Given the description of an element on the screen output the (x, y) to click on. 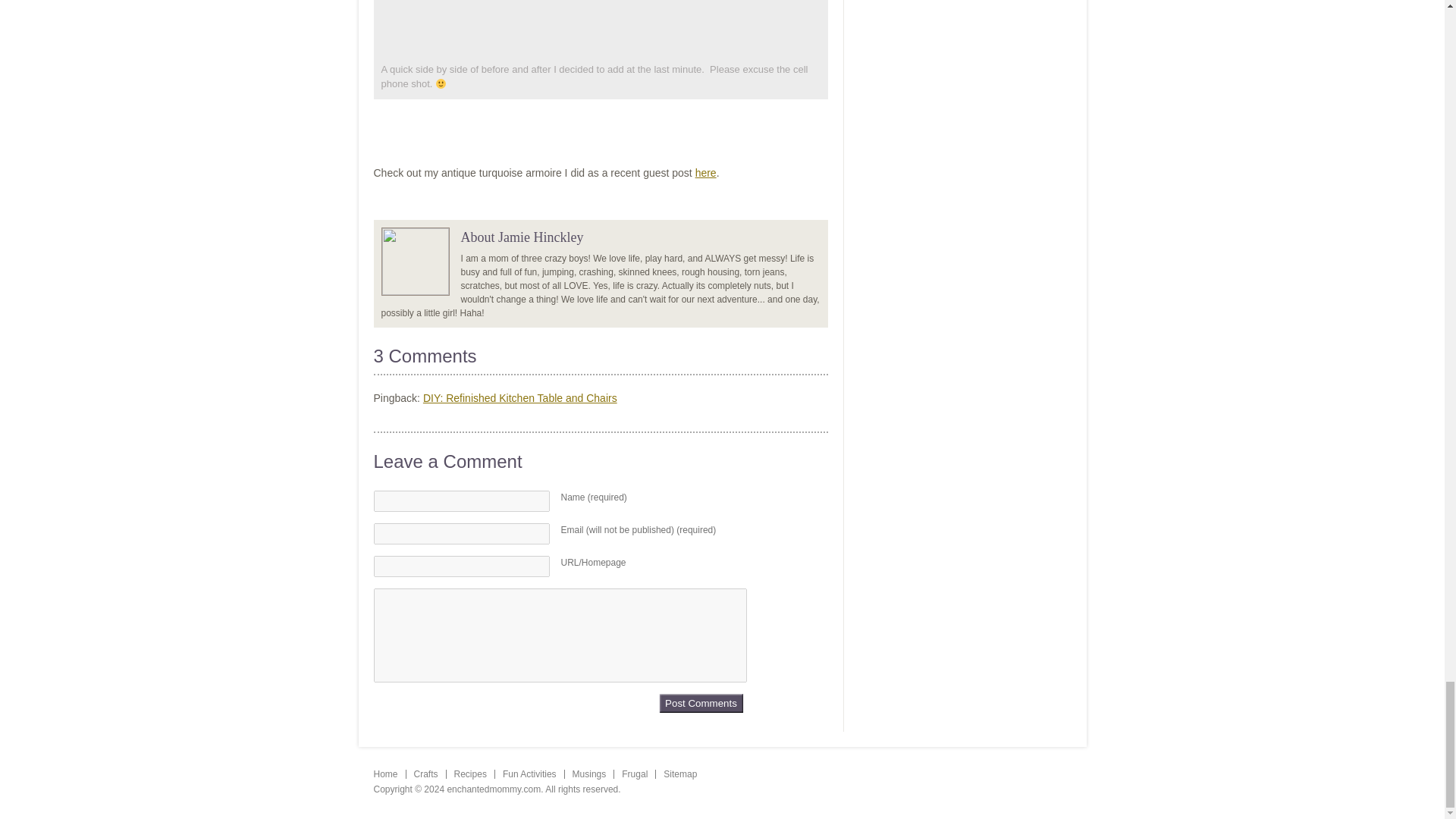
Post Comments (700, 702)
Home (384, 774)
Frugal (634, 774)
here (705, 173)
Crafts (425, 774)
DIY: Refinished Kitchen Table and Chairs (520, 398)
Sitemap (680, 774)
Fun Activities (529, 774)
Recipes (470, 774)
Post Comments (700, 702)
